Given the description of an element on the screen output the (x, y) to click on. 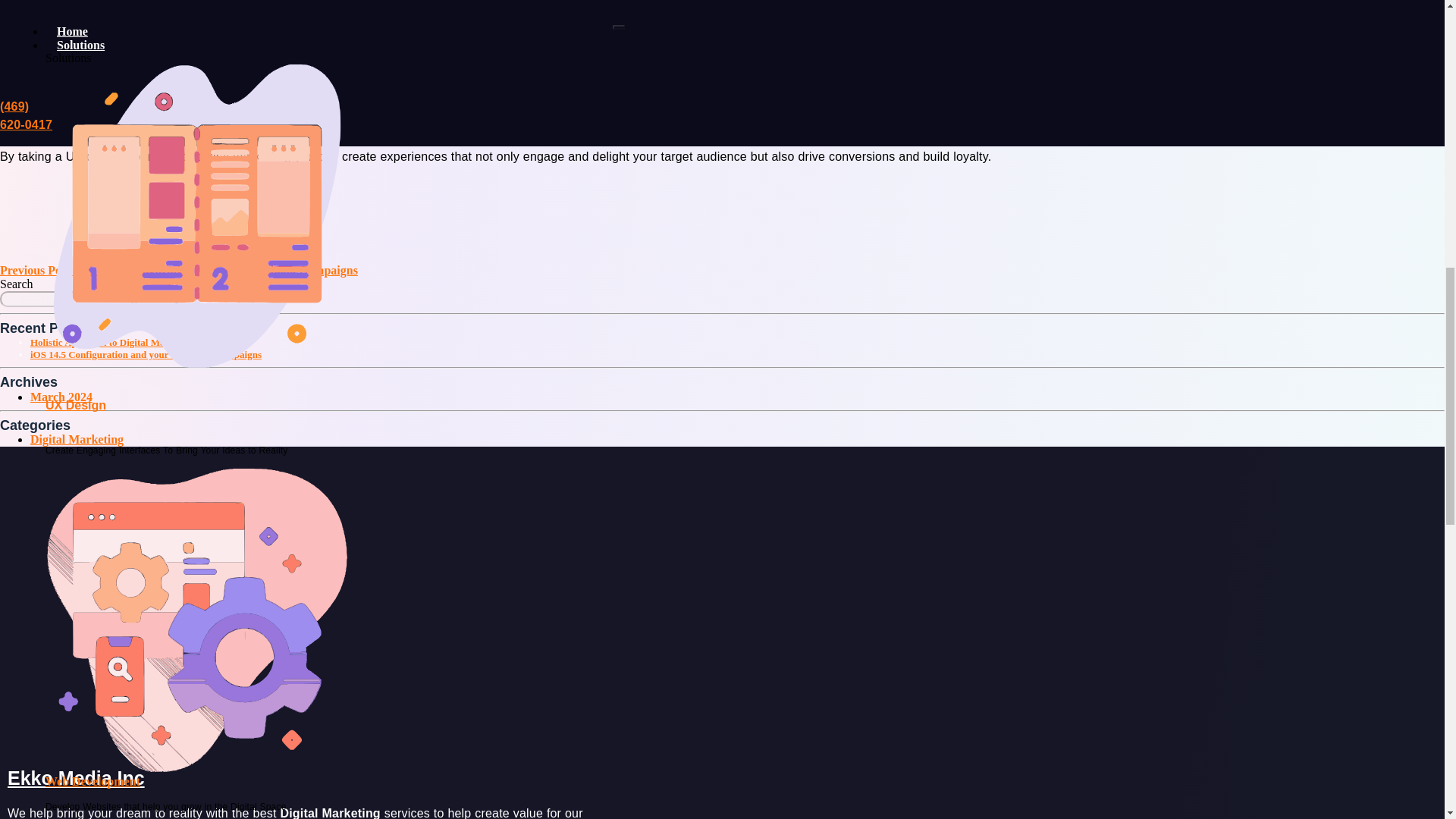
Paid Advertising (93, 703)
Holistic Approach to Digital Marketing (112, 342)
Digital Marketing (76, 439)
iOS 14.5 Configuration and your Facebook Campaigns (146, 354)
Ekko Media Inc (75, 777)
Search (155, 299)
March 2024 (61, 396)
SEO Services (80, 318)
